Given the description of an element on the screen output the (x, y) to click on. 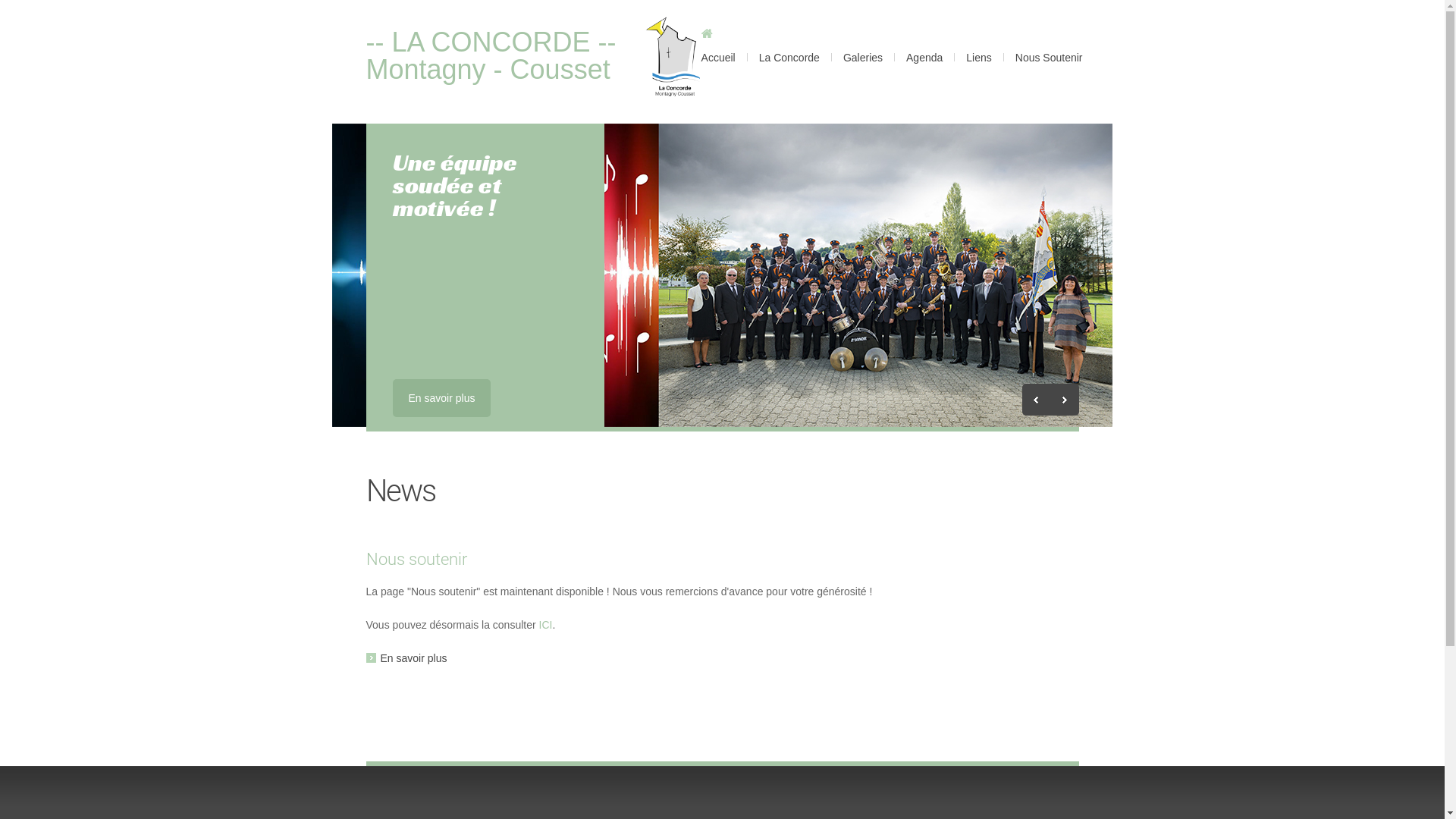
Agenda Element type: text (924, 45)
ICI Element type: text (545, 624)
La Concorde Element type: text (789, 45)
Previous Element type: text (1036, 399)
Galeries Element type: text (862, 45)
Next Element type: text (1065, 399)
Accueil Element type: text (718, 45)
En savoir plus Element type: text (441, 398)
Liens Element type: text (978, 45)
-- LA CONCORDE -- Montagny - Cousset Element type: text (490, 55)
Nous Soutenir Element type: text (1048, 45)
Accueil Element type: hover (673, 64)
Nous soutenir Element type: text (415, 558)
